Given the description of an element on the screen output the (x, y) to click on. 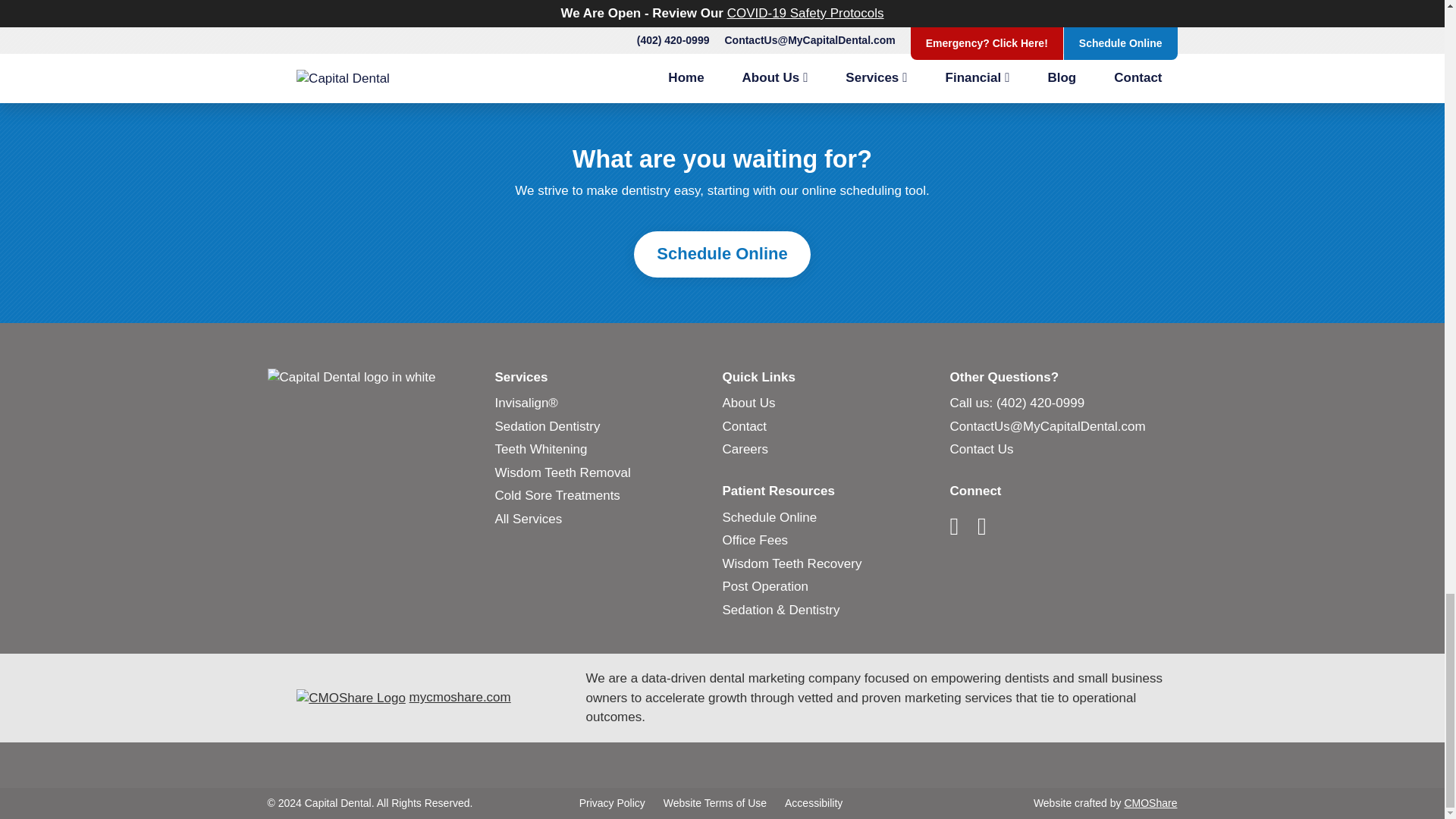
What You Should Know Before Getting Dental Veneers (578, 15)
